Given the description of an element on the screen output the (x, y) to click on. 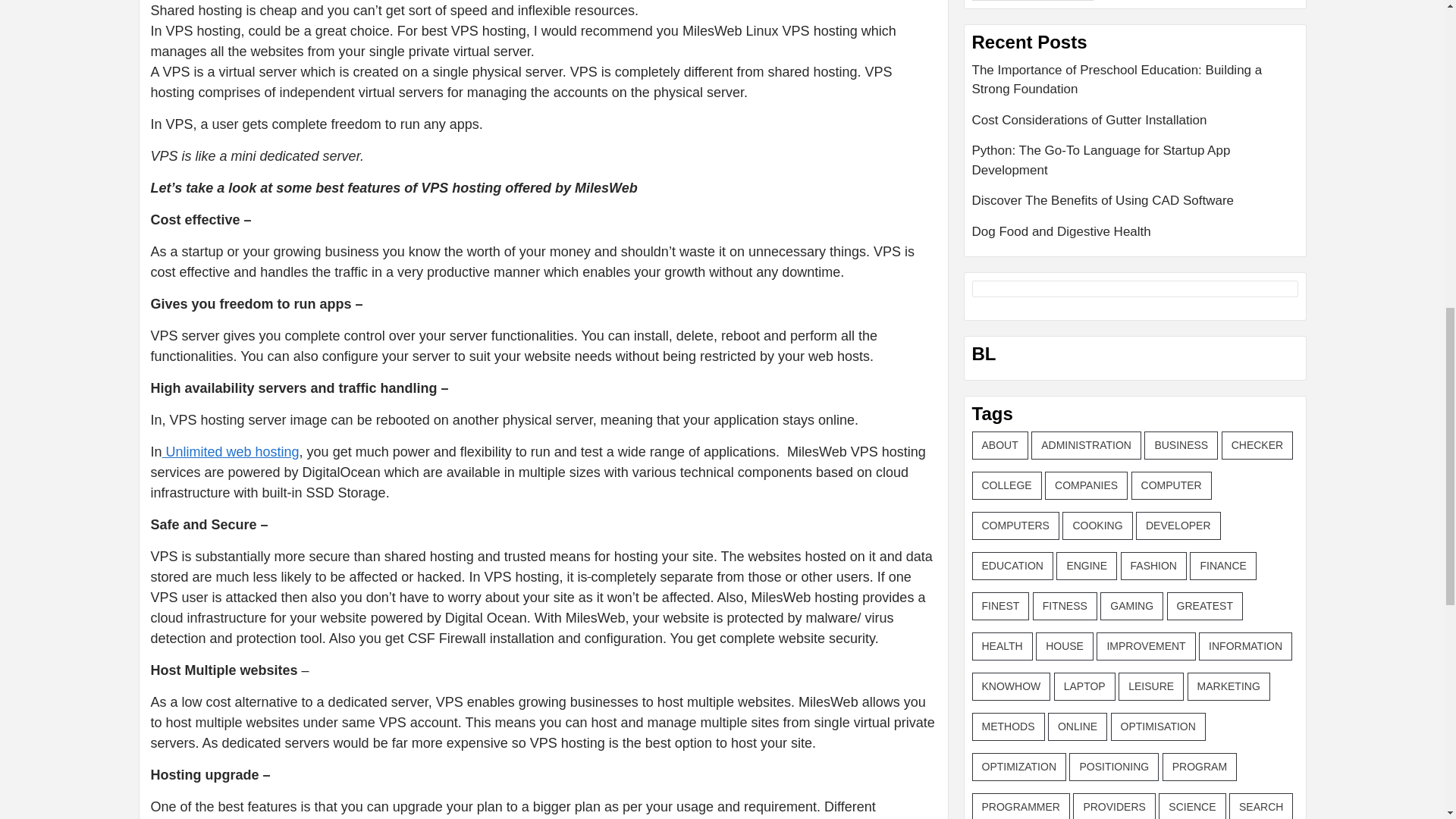
ADMINISTRATION (1085, 445)
COLLEGE (1007, 485)
ABOUT (999, 445)
COMPUTERS (1015, 525)
BUSINESS (1180, 445)
Cost Considerations of Gutter Installation (1135, 125)
CHECKER (1256, 445)
Unlimited web hosting (230, 451)
Dog Food and Digestive Health (1135, 231)
